Given the description of an element on the screen output the (x, y) to click on. 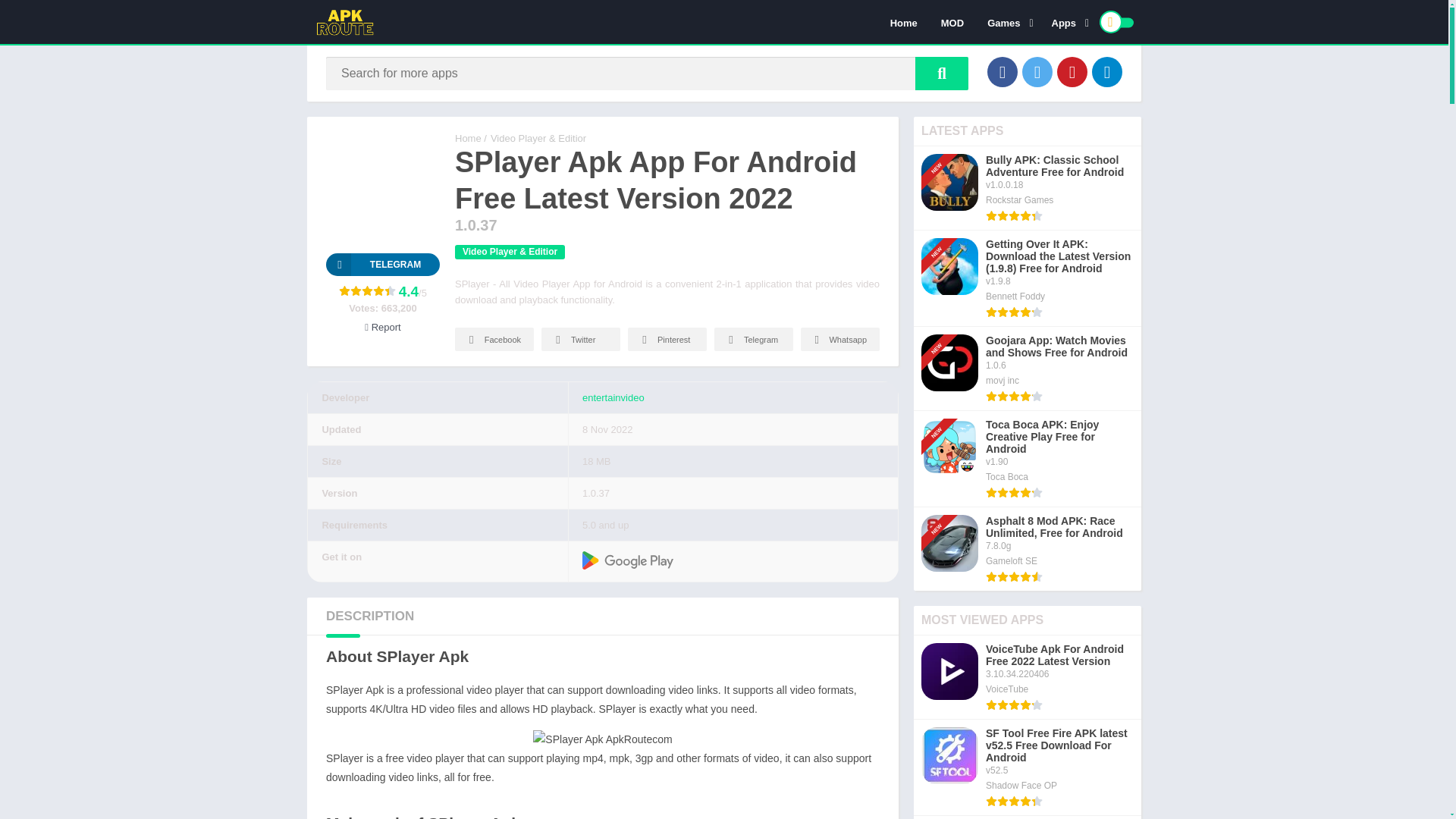
Pinterest (1072, 71)
Home (903, 22)
Telegram (1107, 71)
Games (1007, 22)
Facebook (1002, 71)
ApkRoute.com (467, 138)
splayer1 apkroutecom (601, 739)
Search for more apps (941, 73)
Twitter (1037, 71)
MOD (952, 22)
Telegram (382, 264)
